Given the description of an element on the screen output the (x, y) to click on. 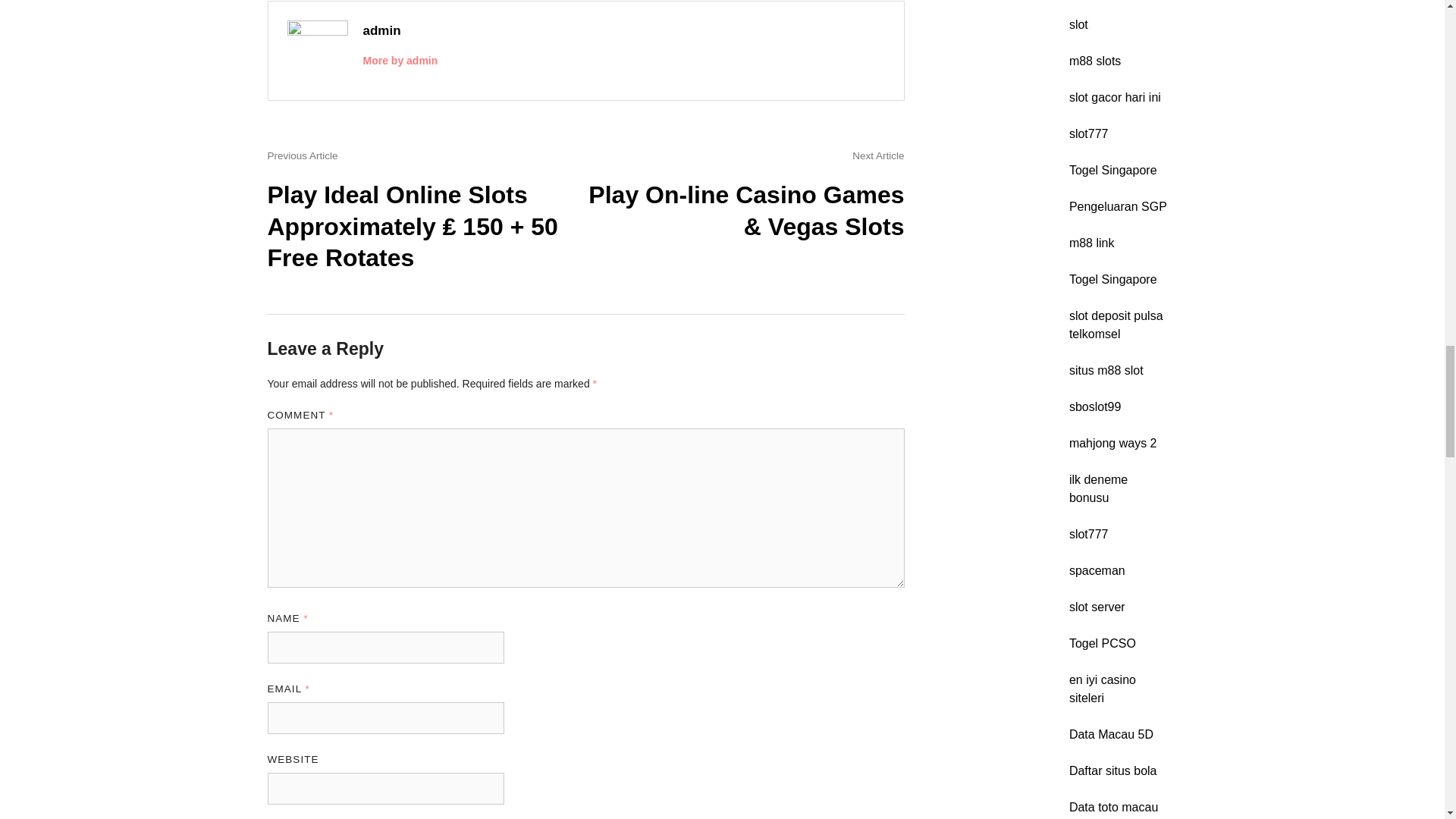
More by admin (400, 60)
admin (381, 30)
